Given the description of an element on the screen output the (x, y) to click on. 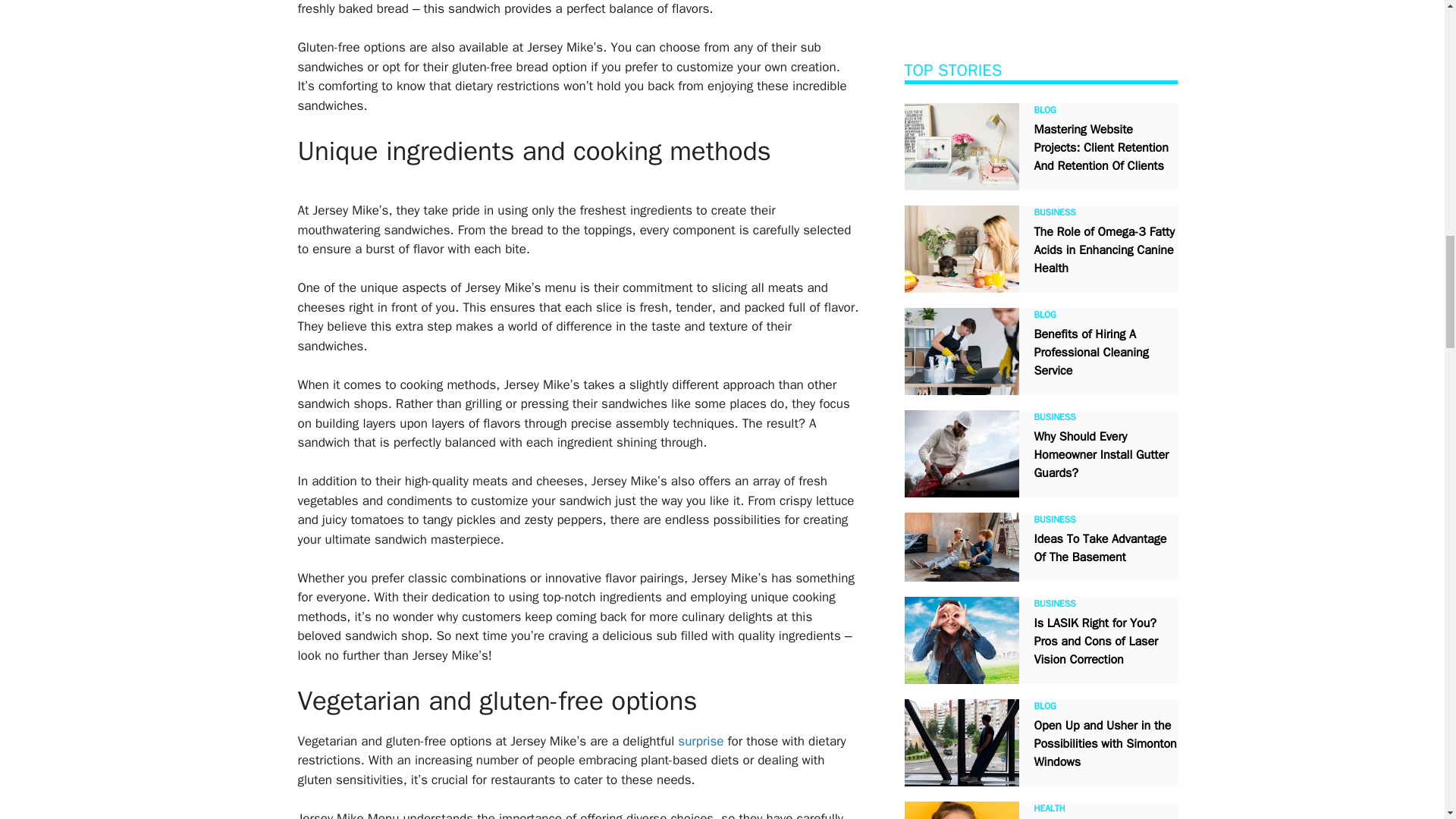
surprise (700, 741)
